Given the description of an element on the screen output the (x, y) to click on. 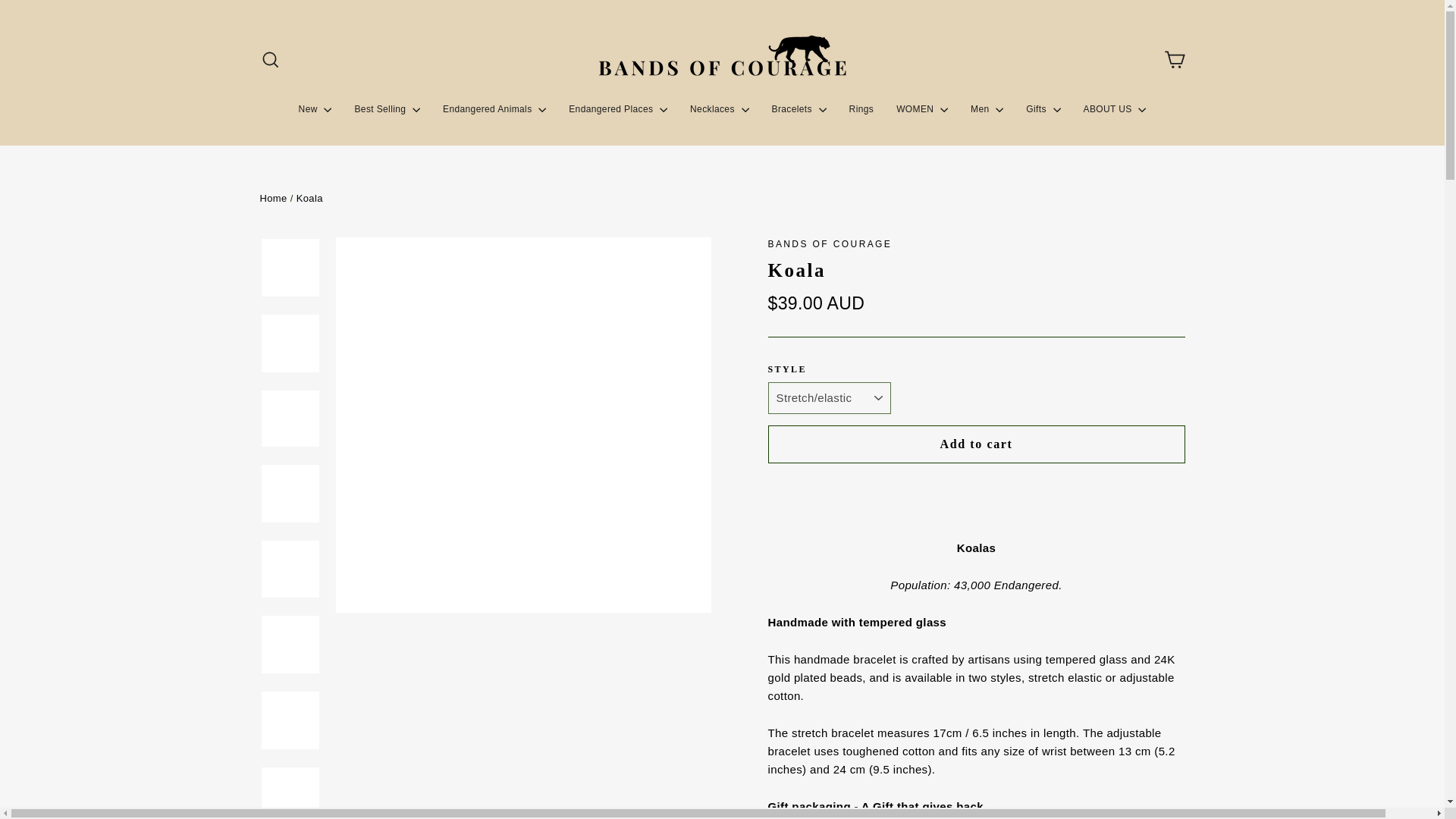
Bands of Courage (829, 244)
Back to the frontpage (272, 197)
